Given the description of an element on the screen output the (x, y) to click on. 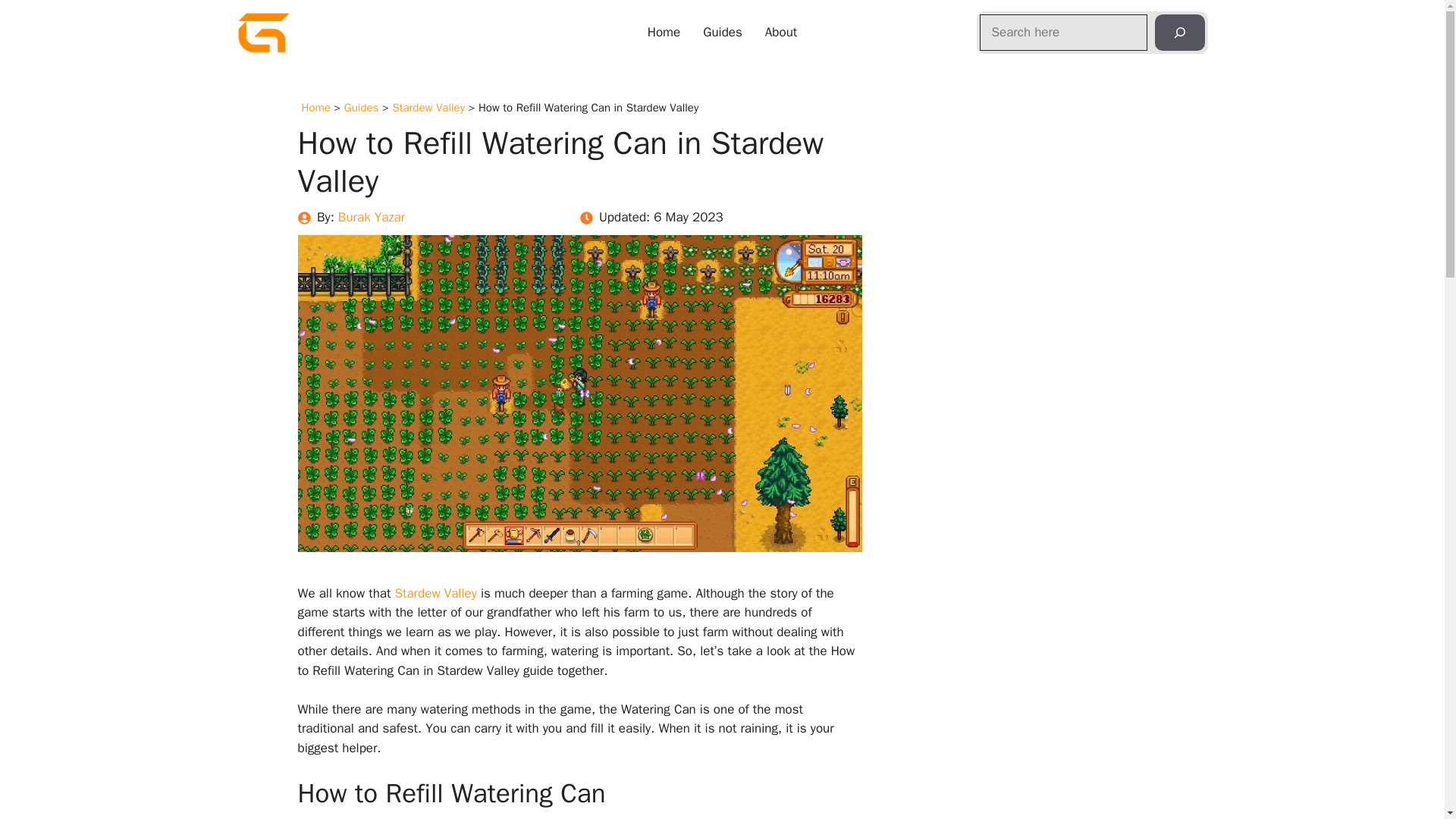
Burak Yazar (370, 217)
Stardew Valley (427, 107)
Home (663, 32)
Guides (360, 107)
About (780, 32)
Guides (722, 32)
orange-white-transparent (262, 32)
Stardew Valley (435, 593)
Home (315, 107)
